Given the description of an element on the screen output the (x, y) to click on. 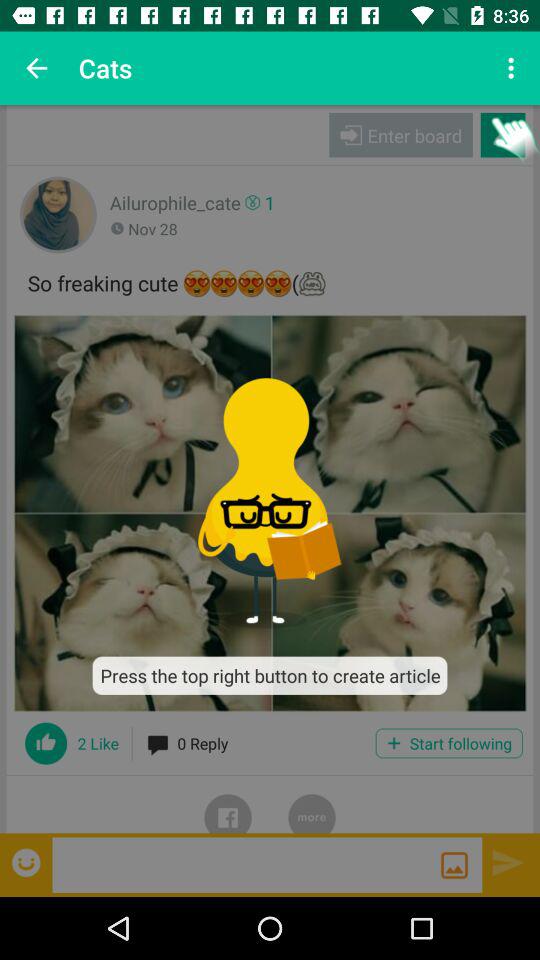
write message box (246, 864)
